Given the description of an element on the screen output the (x, y) to click on. 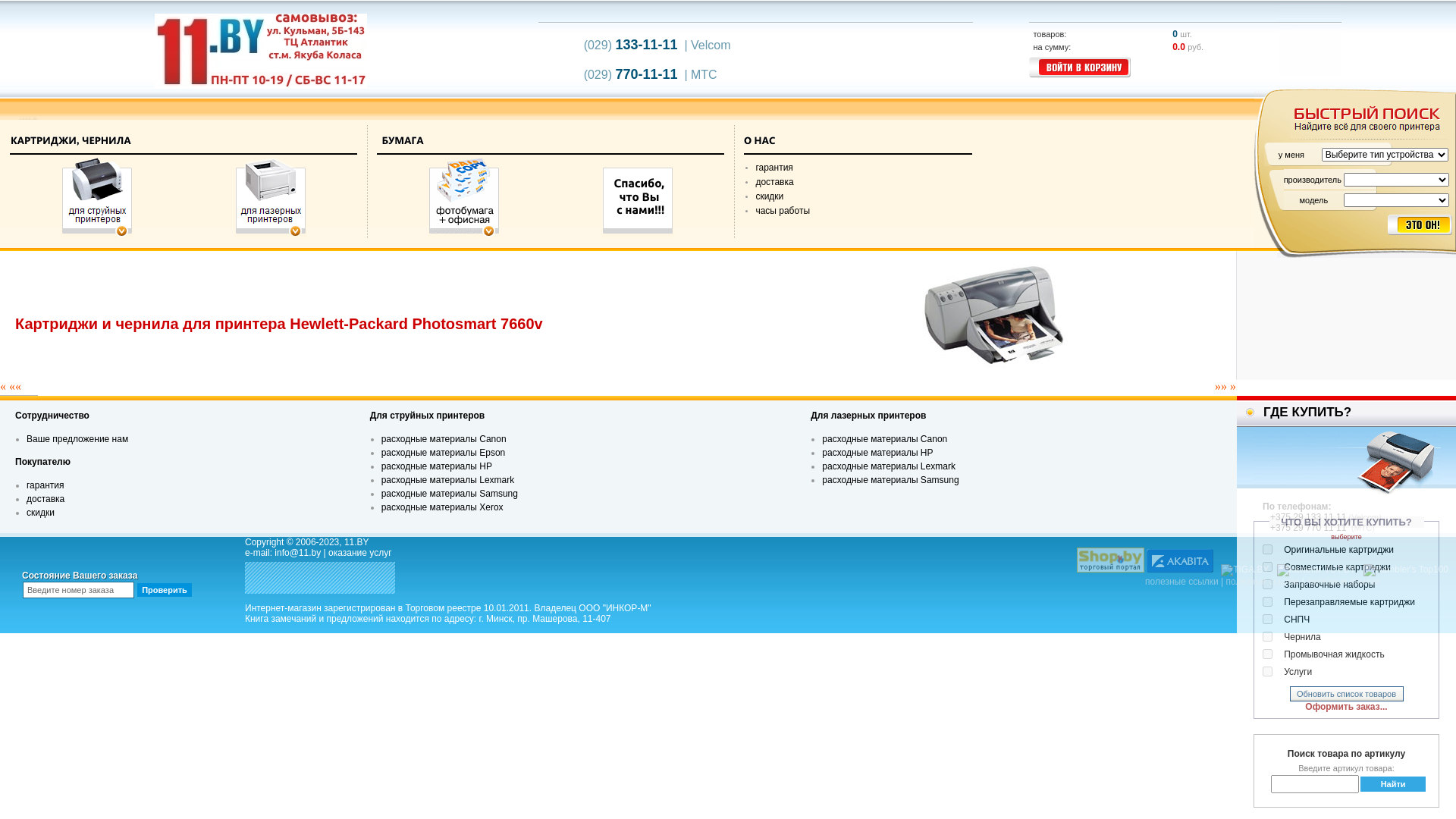
info@11.by Element type: text (297, 552)
